Given the description of an element on the screen output the (x, y) to click on. 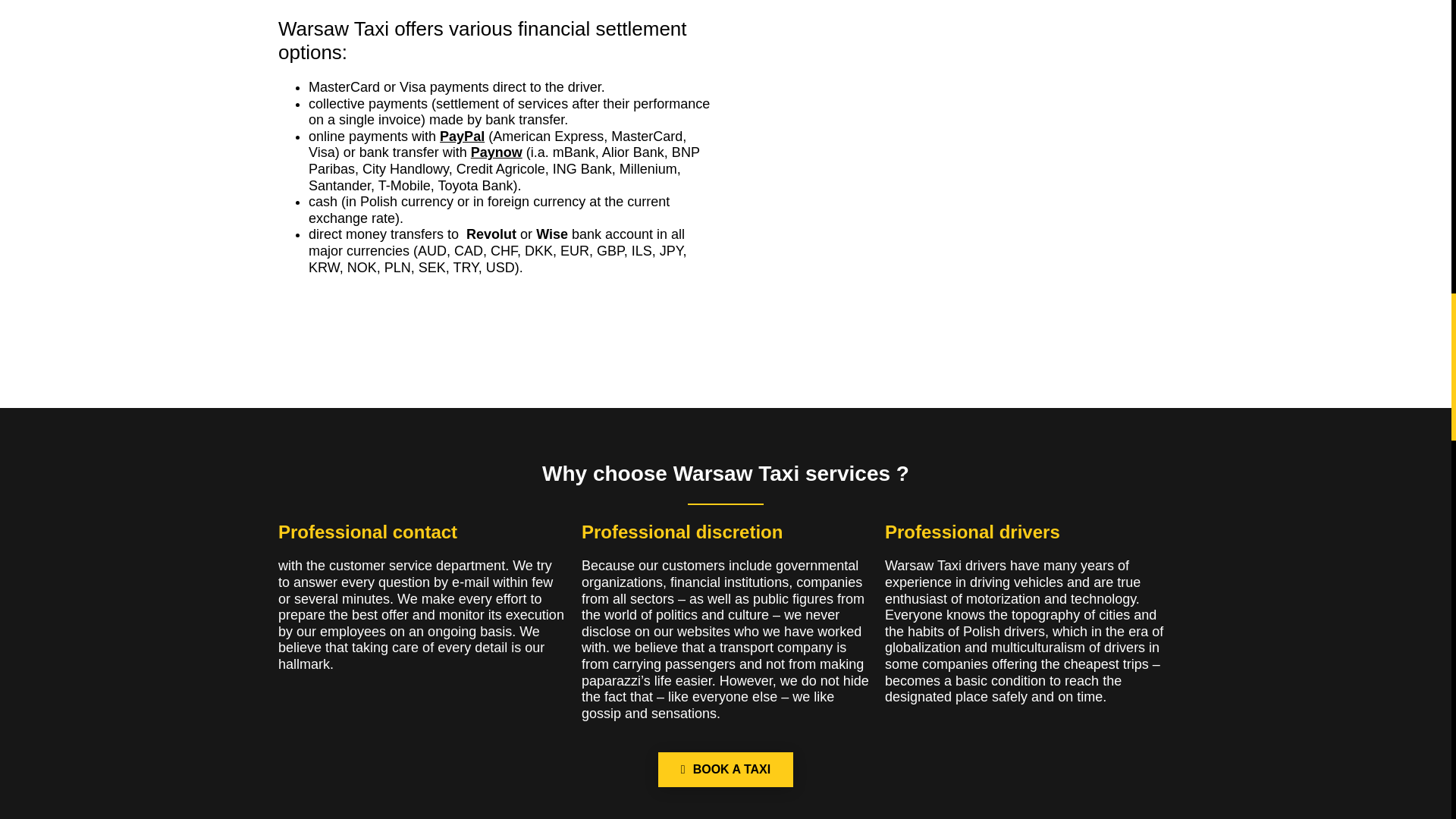
Paynow (496, 151)
PayPal (461, 136)
BOOK A TAXI (725, 769)
